Given the description of an element on the screen output the (x, y) to click on. 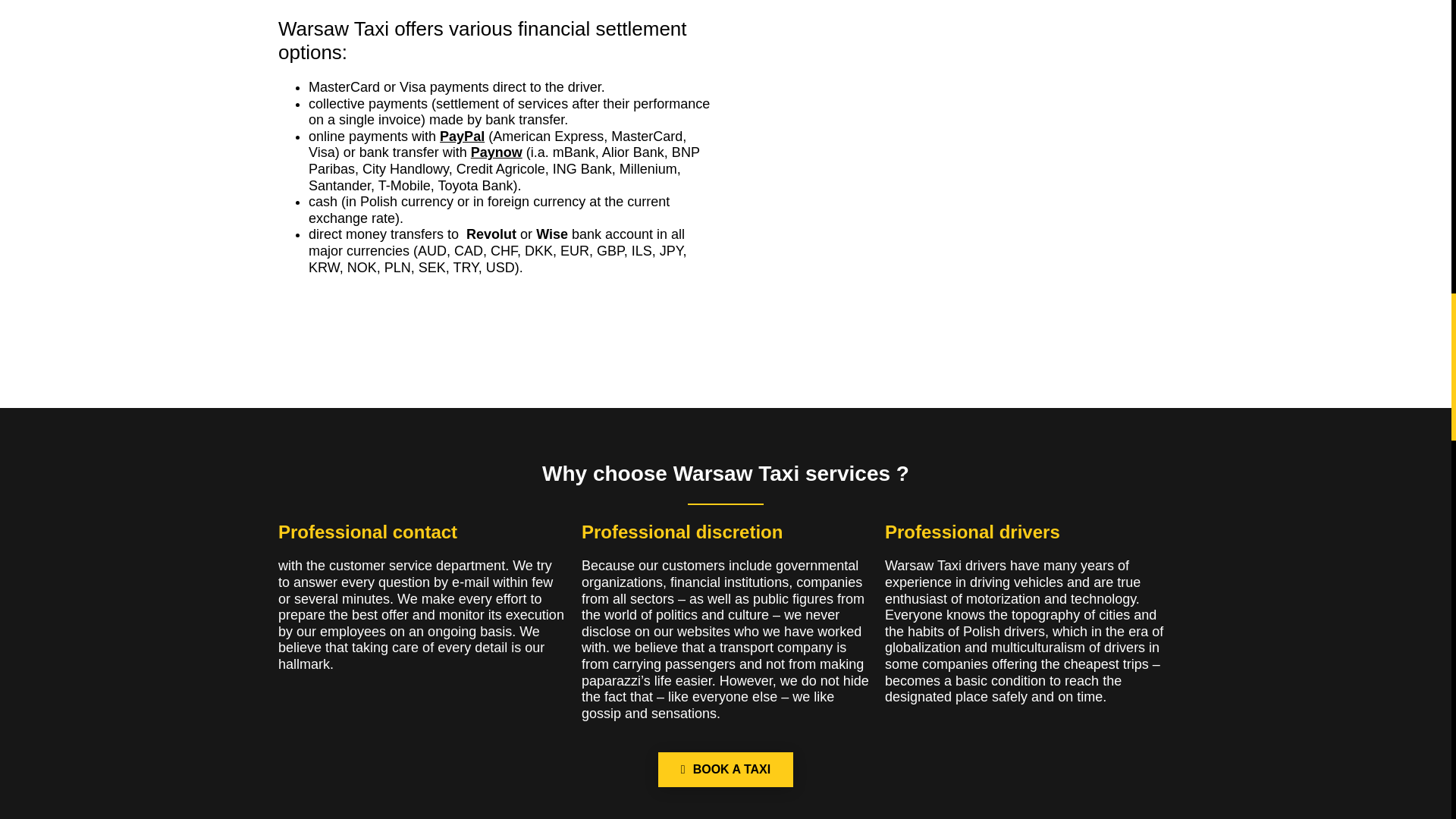
Paynow (496, 151)
PayPal (461, 136)
BOOK A TAXI (725, 769)
